Given the description of an element on the screen output the (x, y) to click on. 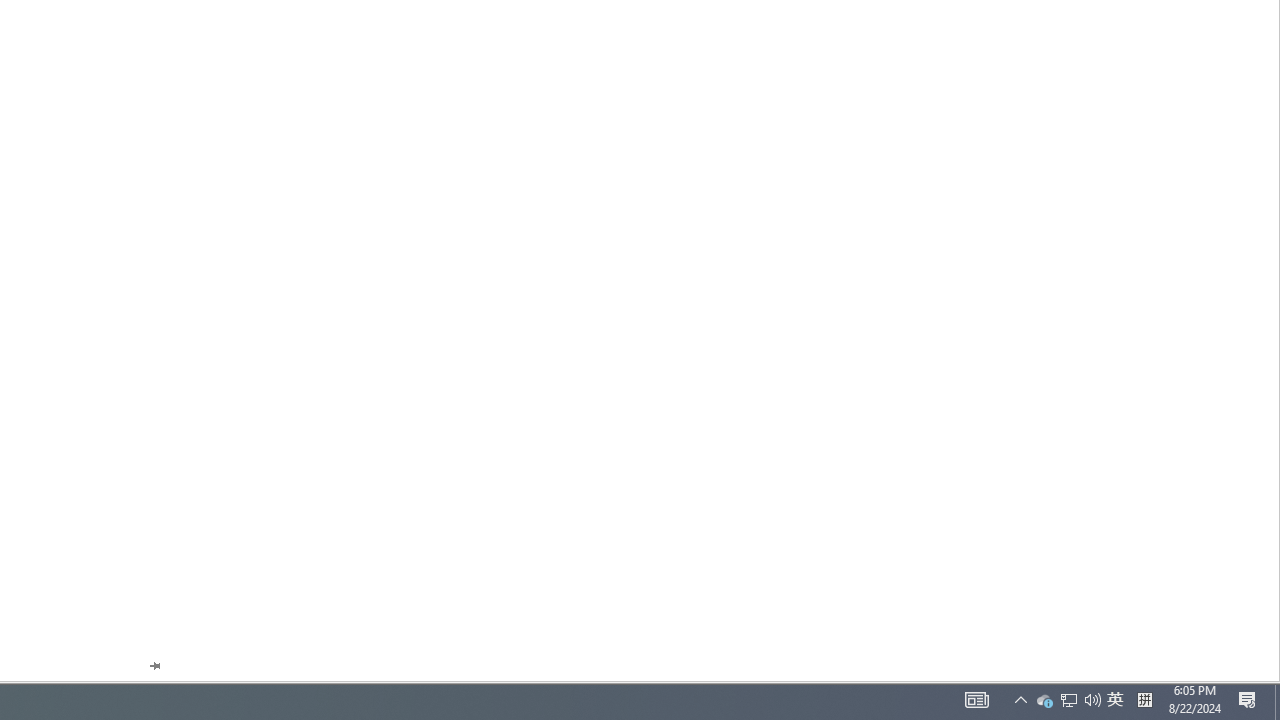
Pin the Dock (Windows logo key+Shift+I) (154, 665)
